Given the description of an element on the screen output the (x, y) to click on. 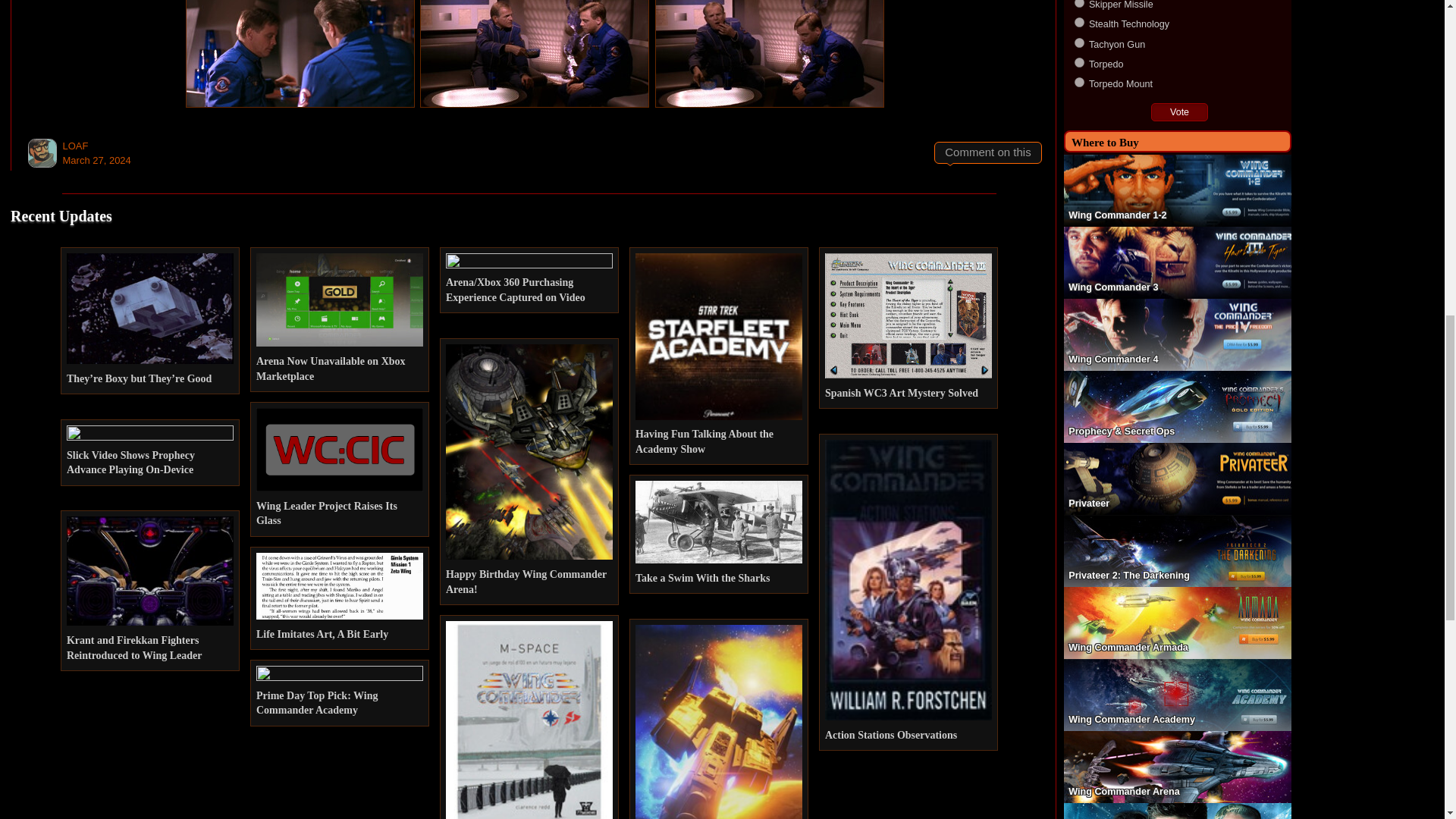
10 (1079, 62)
8 (1079, 22)
9 (1079, 42)
Vote (1179, 112)
7 (1079, 3)
11 (1079, 81)
